Given the description of an element on the screen output the (x, y) to click on. 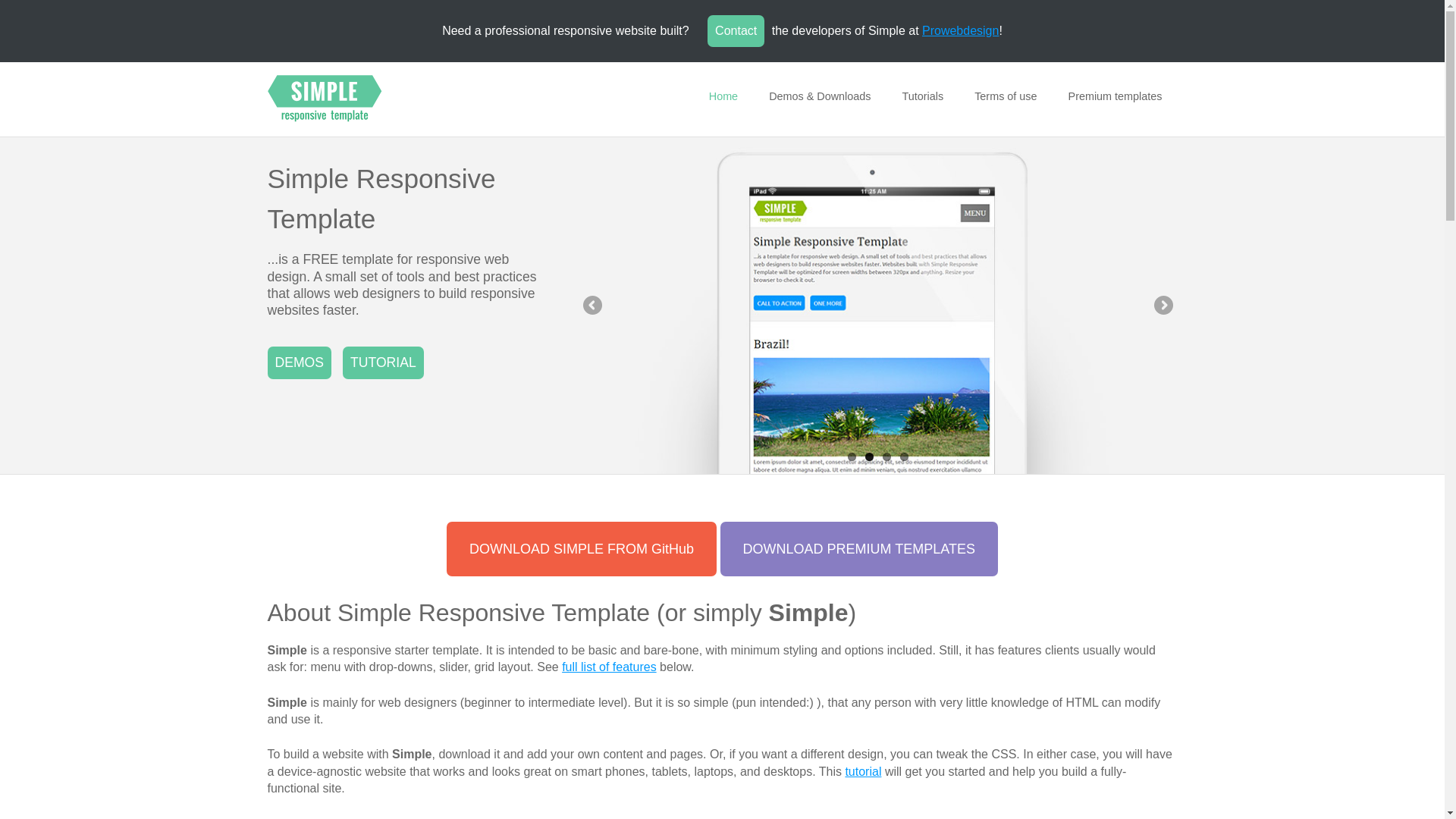
DEMOS (298, 362)
Prowebdesign (959, 30)
Terms of use (1005, 96)
Contact (735, 30)
Premium templates (1114, 96)
DOWNLOAD SIMPLE FROM GitHub (581, 548)
tutorial (862, 771)
3 (886, 456)
Tutorials (922, 96)
Home (723, 96)
1 (851, 456)
4 (903, 456)
DOWNLOAD PREMIUM TEMPLATES (858, 548)
Previous (593, 305)
Next (1162, 305)
